Given the description of an element on the screen output the (x, y) to click on. 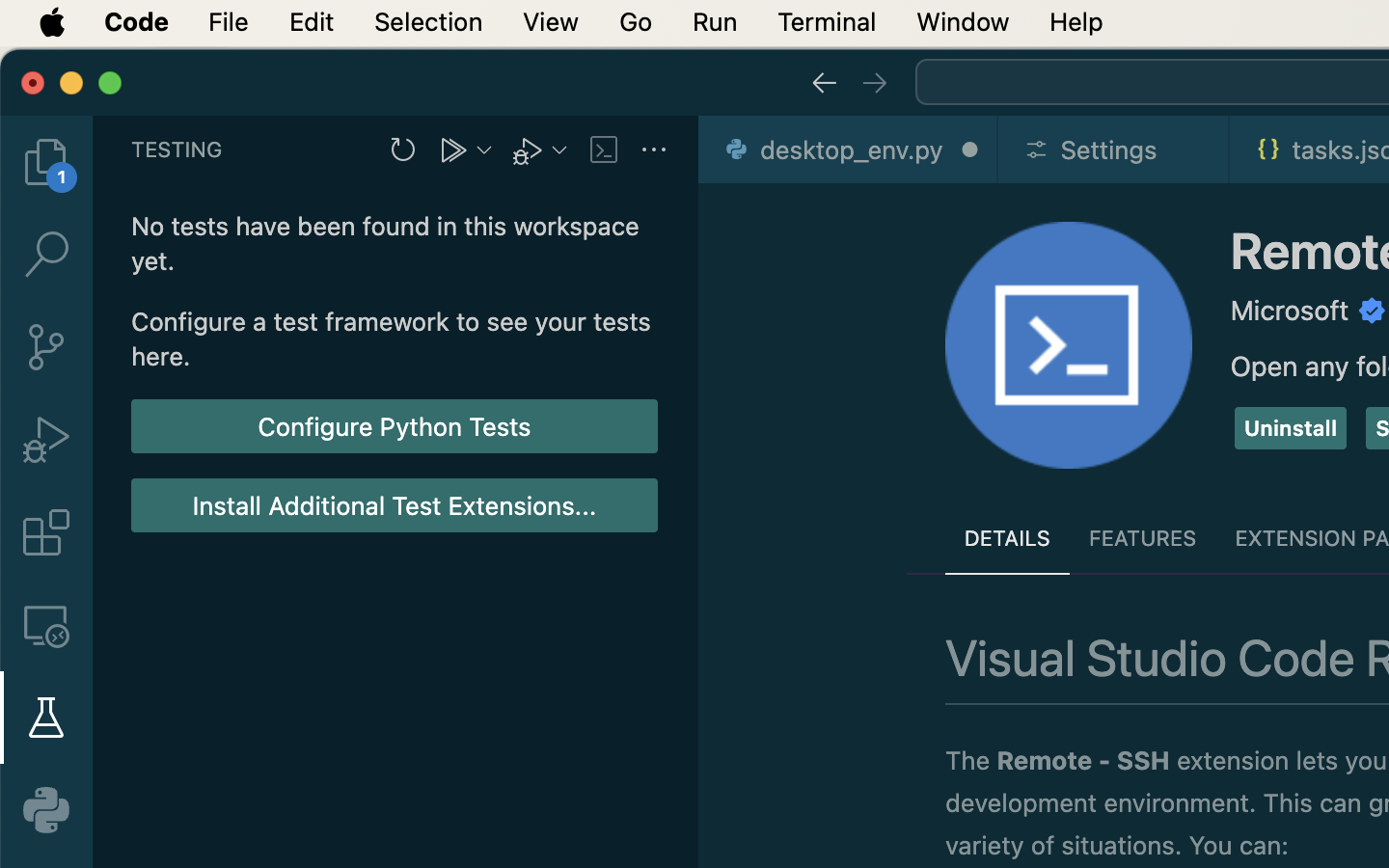
0 Settings   Element type: AXRadioButton (1114, 149)
 Element type: AXButton (824, 82)
Microsoft Element type: AXStaticText (1290, 310)
 Element type: AXGroup (46, 624)
TESTING Element type: AXStaticText (177, 149)
